Given the description of an element on the screen output the (x, y) to click on. 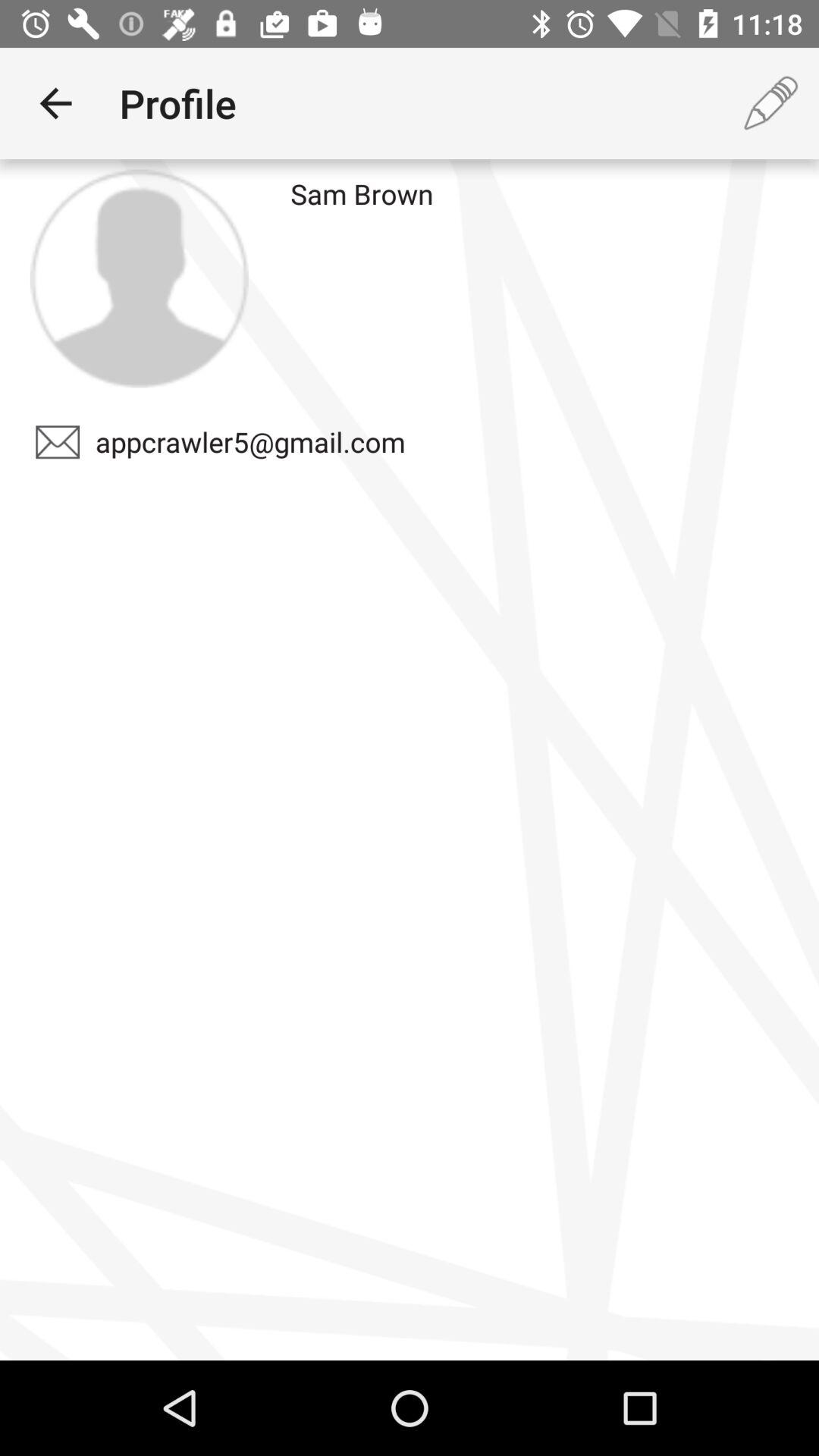
open the item to the left of the sam brown (139, 278)
